Given the description of an element on the screen output the (x, y) to click on. 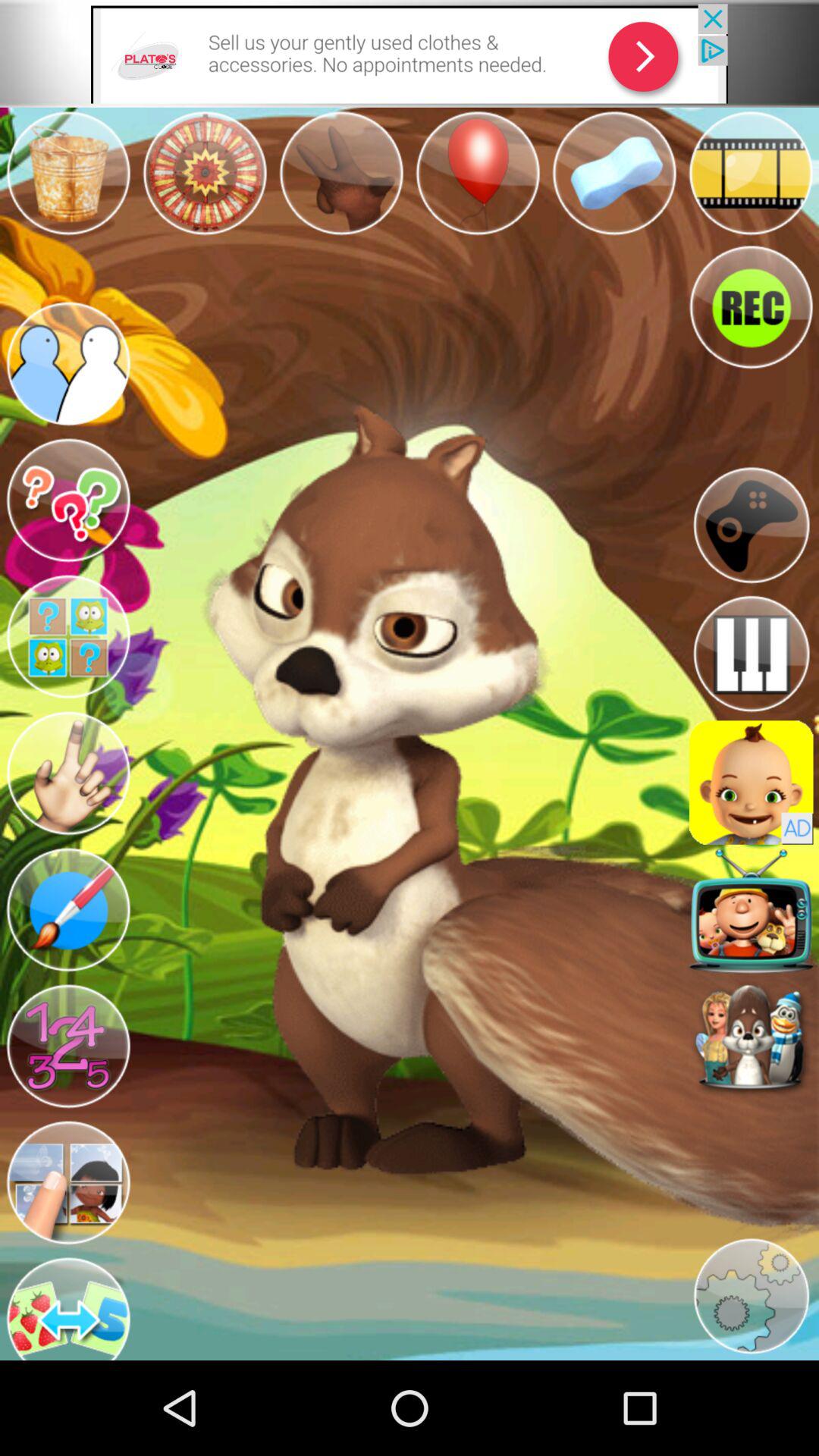
click advertisement (751, 782)
